Given the description of an element on the screen output the (x, y) to click on. 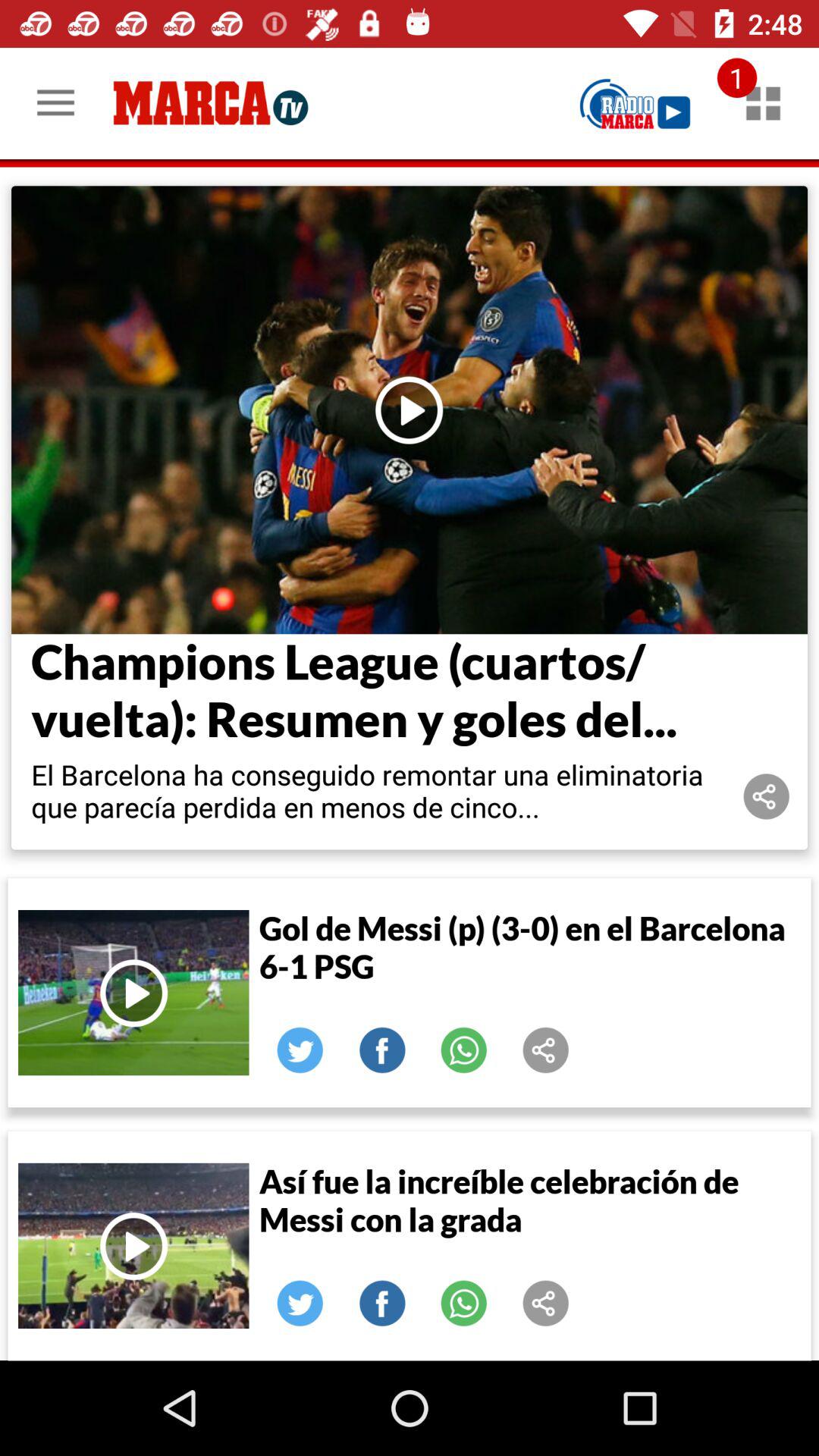
share article (545, 1303)
